Given the description of an element on the screen output the (x, y) to click on. 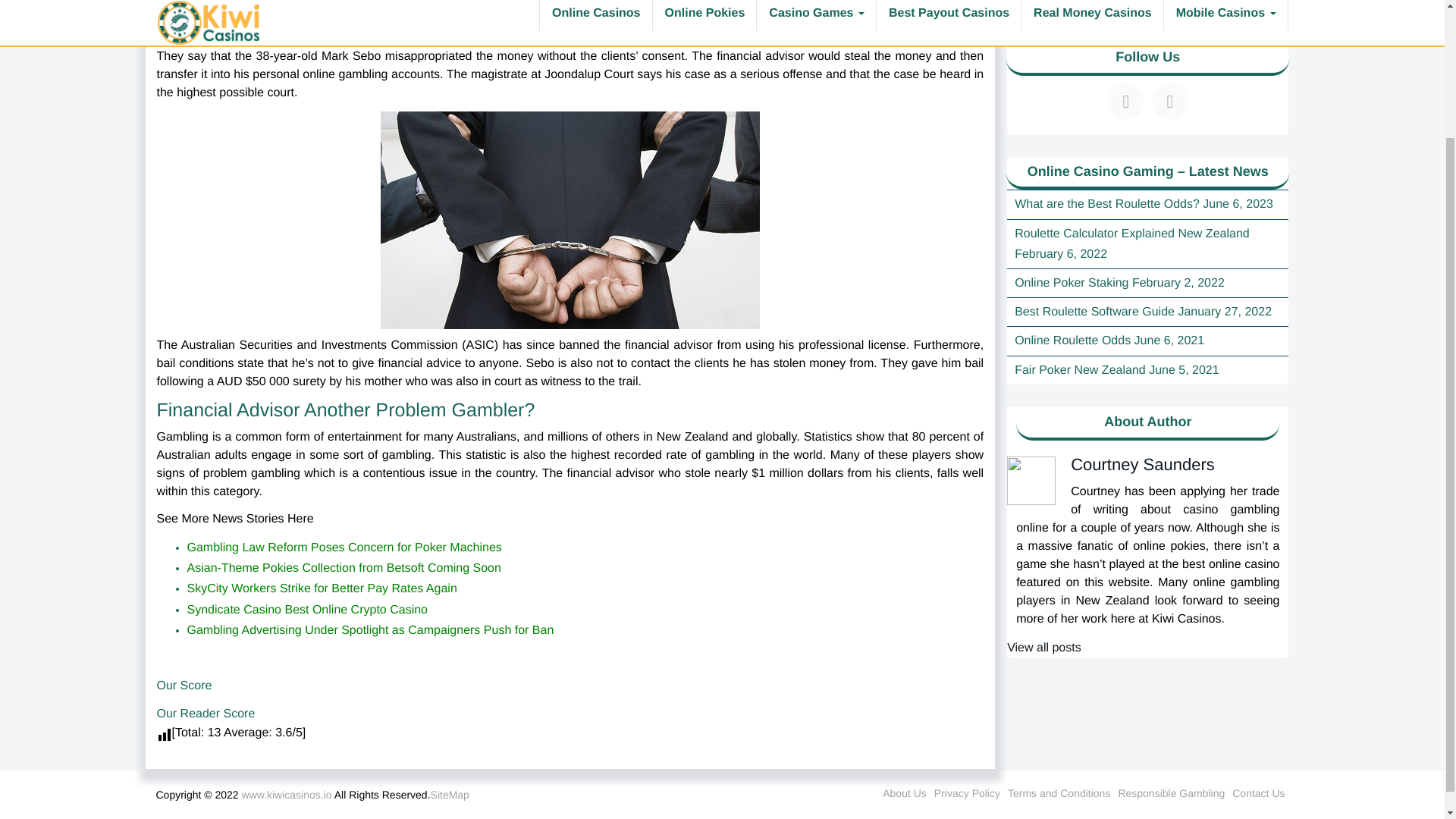
About Us (904, 793)
Syndicate Casino Best Online Crypto Casino (307, 609)
Best Roulette Software Guide (1094, 311)
www.kiwicasinos.io (286, 794)
View all posts (1044, 647)
SkyCity Workers Strike for Better Pay Rates Again (321, 588)
Courtney Saunders (1142, 464)
Online Poker Staking (1071, 282)
What are the Best Roulette Odds? (1106, 204)
